Given the description of an element on the screen output the (x, y) to click on. 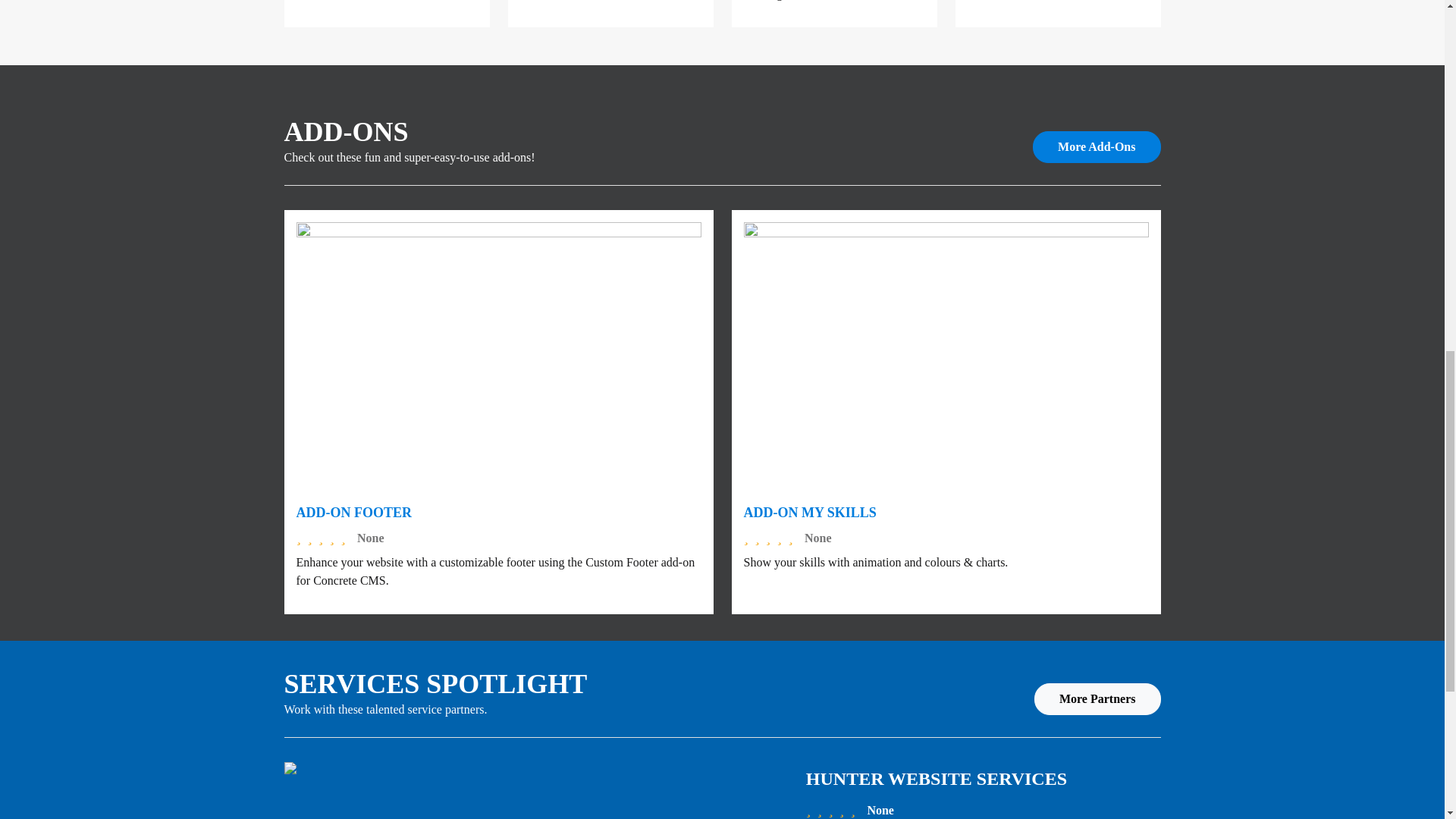
ADD-ON MY SKILLS (809, 512)
HUNTER WEBSITE SERVICES (936, 778)
More Partners (1096, 698)
More Add-Ons (1096, 146)
ADD-ON FOOTER (353, 512)
